Given the description of an element on the screen output the (x, y) to click on. 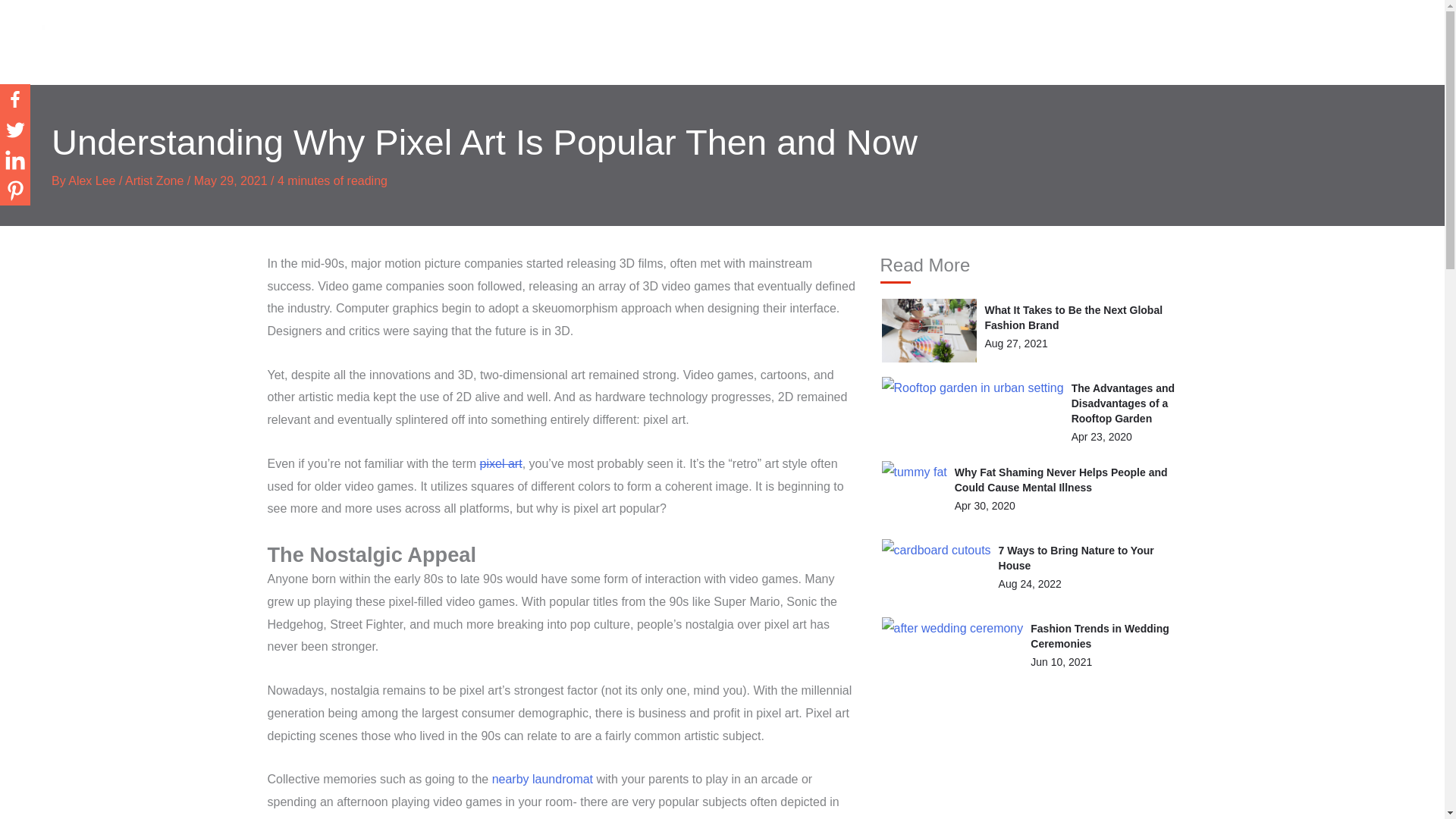
Twitter (15, 129)
7 Ways to Bring Nature to Your House (1076, 557)
Facebook (15, 99)
Linkedin (15, 159)
pixel art (501, 463)
POPULAR MEDIA (1346, 42)
DIGITAL DESIGN (1239, 42)
Artist Zone (154, 180)
ABOUT (934, 42)
What It Takes to Be the Next Global Fashion Brand (1072, 316)
